Given the description of an element on the screen output the (x, y) to click on. 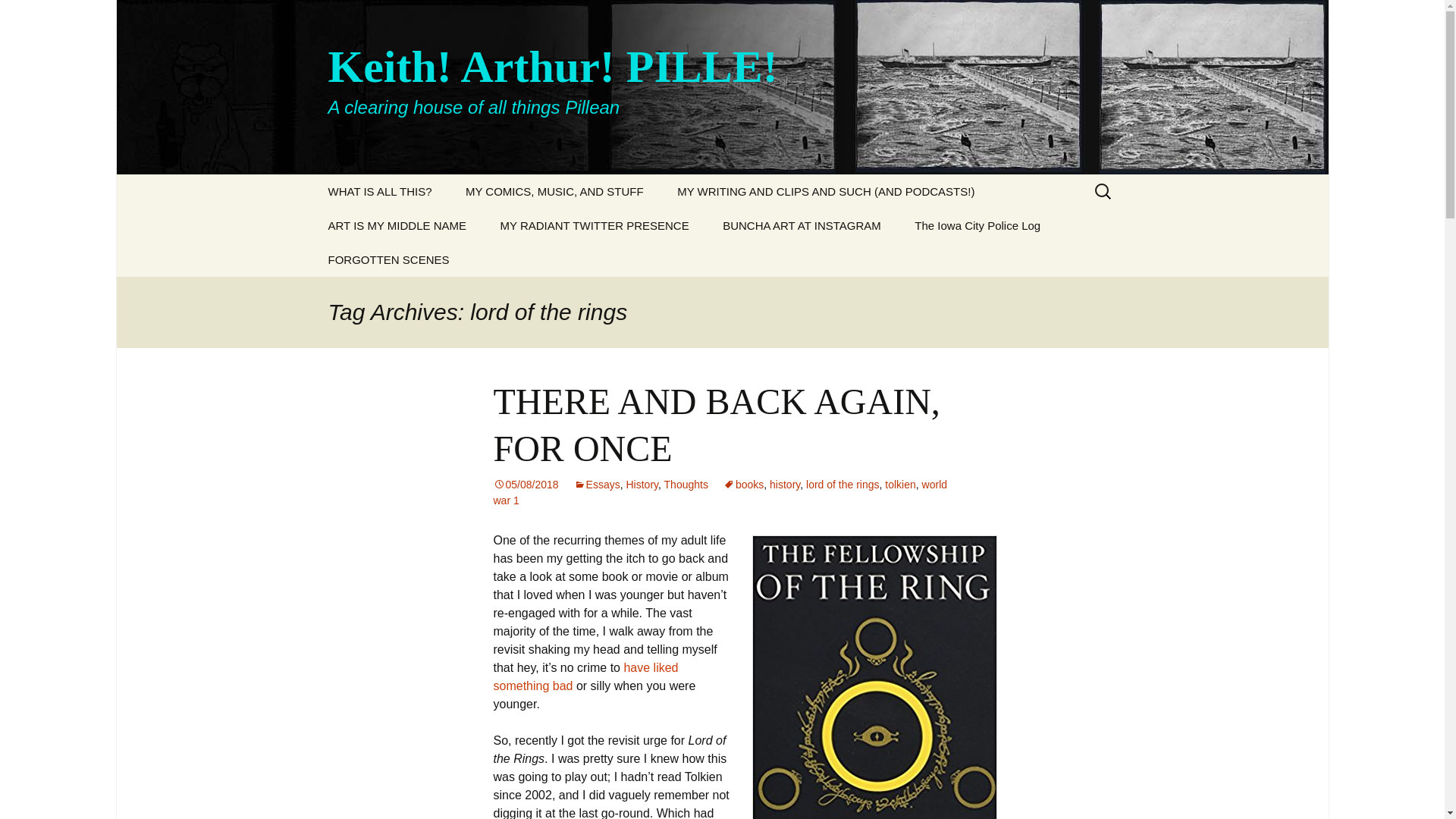
BUNCHA ART AT INSTAGRAM (801, 225)
History (642, 484)
MY RADIANT TWITTER PRESENCE (594, 225)
THERE AND BACK AGAIN, FOR ONCE (716, 424)
lord of the rings (842, 484)
Essays (596, 484)
MY COMICS, MUSIC, AND STUFF (554, 191)
Search (34, 15)
FORGOTTEN SCENES (388, 259)
WHAT IS ALL THIS? (379, 191)
world war 1 (720, 492)
have liked something bad (585, 676)
books (742, 484)
The Iowa City Police Log (977, 225)
